Given the description of an element on the screen output the (x, y) to click on. 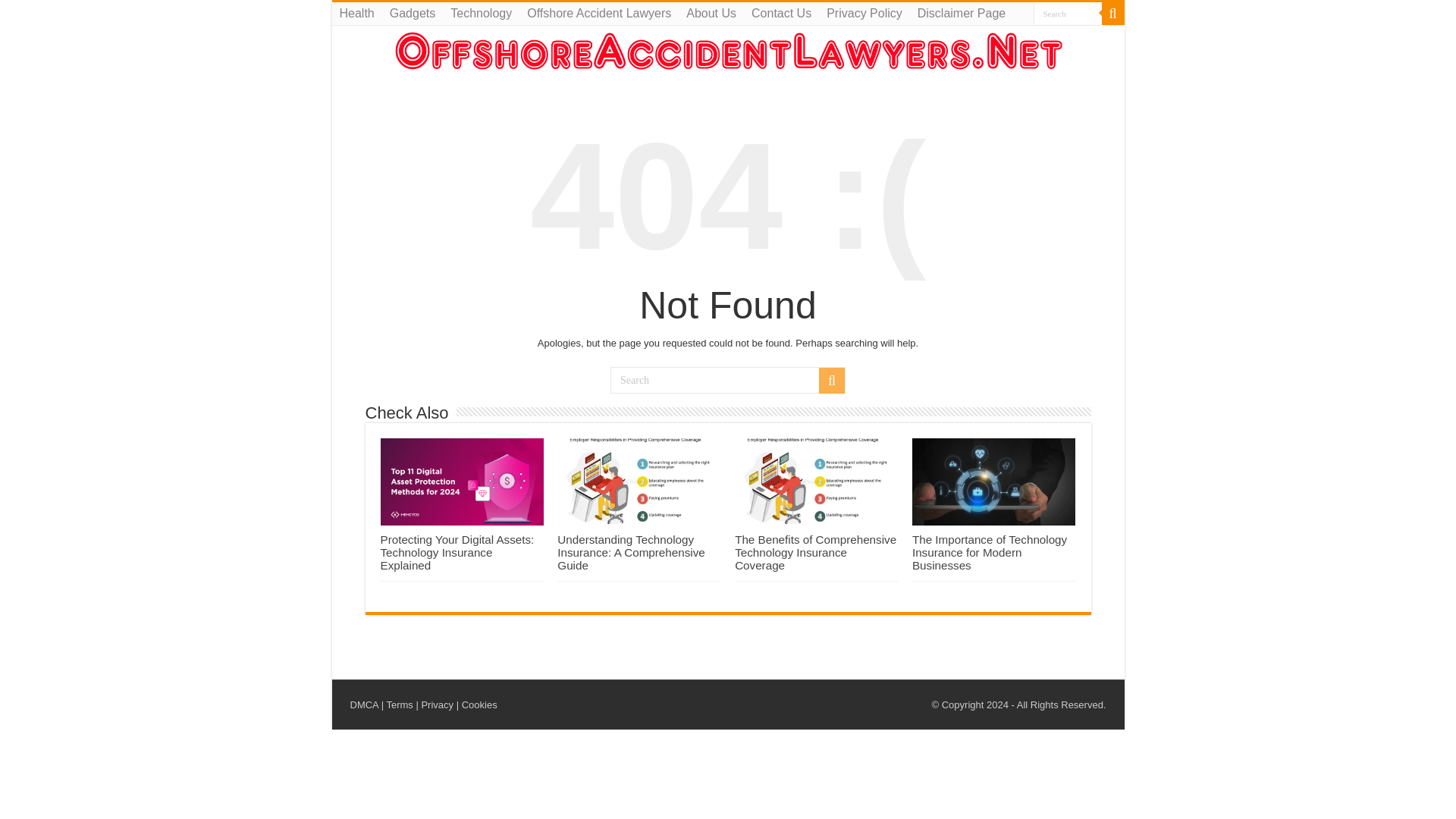
Privacy (436, 704)
Health (356, 13)
Search (831, 380)
Terms (398, 704)
Contact Us (781, 13)
Offshore Accident Lawyers (598, 13)
Privacy Policy (864, 13)
Search (1066, 13)
Search (1112, 13)
Accident Lawyers (727, 50)
The Benefits of Comprehensive Technology Insurance Coverage (815, 552)
About Us (711, 13)
The Importance of Technology Insurance for Modern Businesses (989, 552)
Gadgets (411, 13)
